Given the description of an element on the screen output the (x, y) to click on. 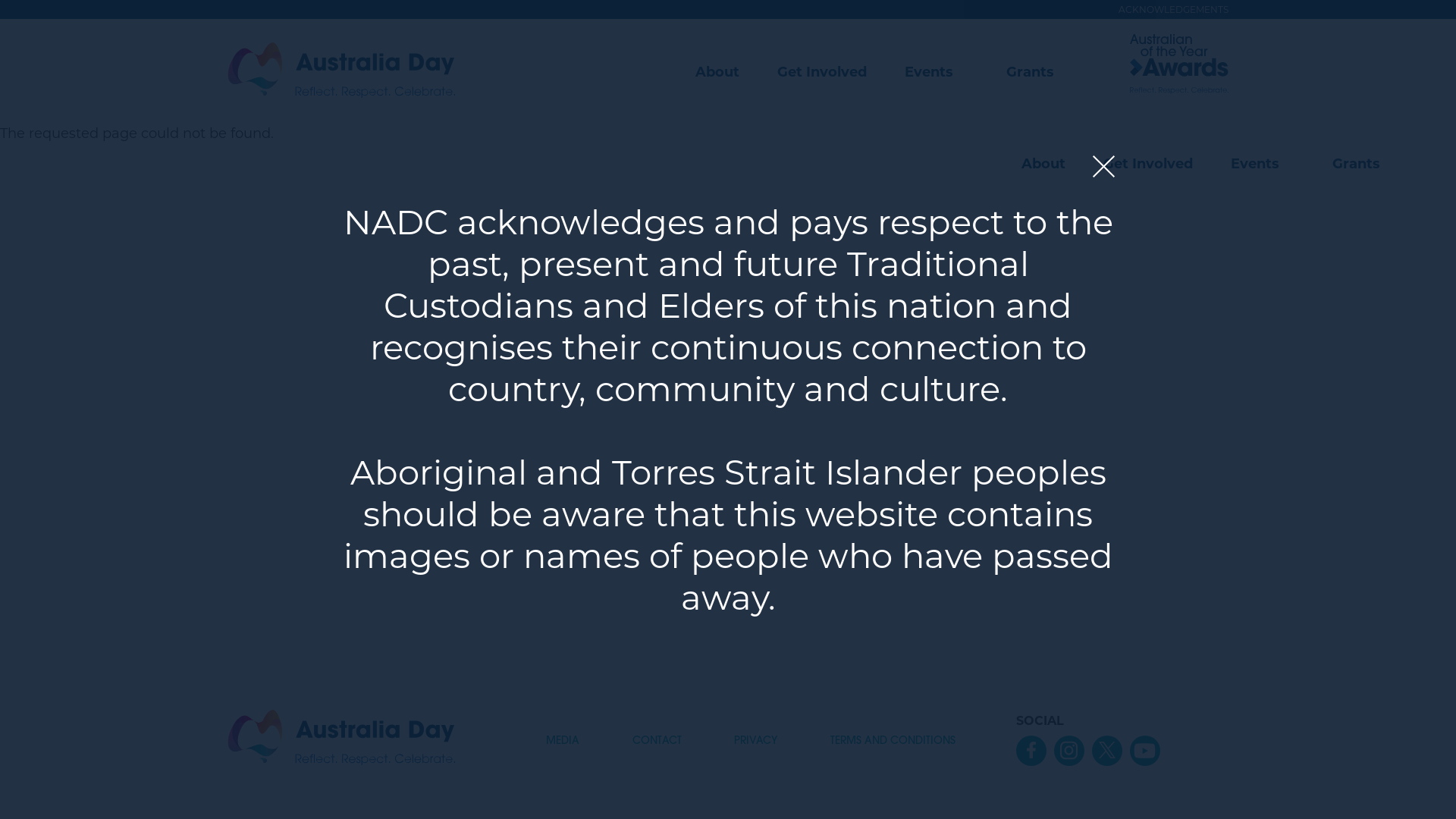
Events Element type: text (928, 71)
TERMS AND CONDITIONS Element type: text (892, 740)
Grants Element type: text (1030, 71)
About Element type: text (717, 71)
Australia Day Element type: hover (341, 71)
About Element type: text (1043, 163)
PRIVACY Element type: text (755, 740)
Skip to main content Element type: text (0, 0)
Get Involved Element type: text (1148, 163)
Australia Day Element type: hover (341, 739)
Visit Australian of the Year Website Element type: hover (1178, 71)
Events Element type: text (1254, 163)
CONTACT Element type: text (656, 740)
Grants Element type: text (1356, 163)
Get Involved Element type: text (821, 71)
MEDIA Element type: text (562, 740)
ACKNOWLEDGEMENTS Element type: text (1165, 8)
